Given the description of an element on the screen output the (x, y) to click on. 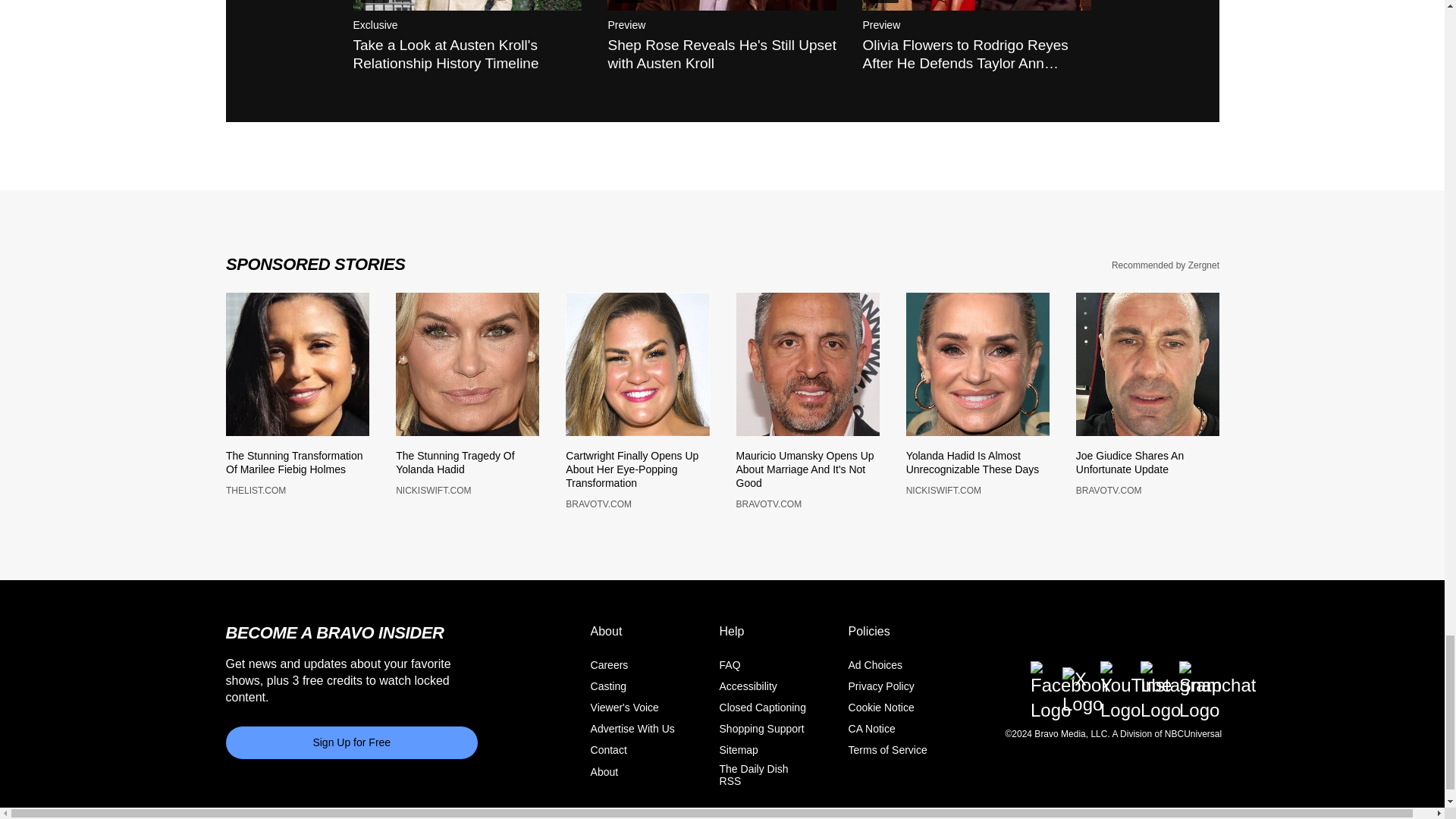
Take a Look at Austen Kroll's Relationship History Timeline (467, 5)
Advertise With Us (633, 737)
Shep Rose Reveals He's Still Upset with Austen Kroll (721, 5)
